Given the description of an element on the screen output the (x, y) to click on. 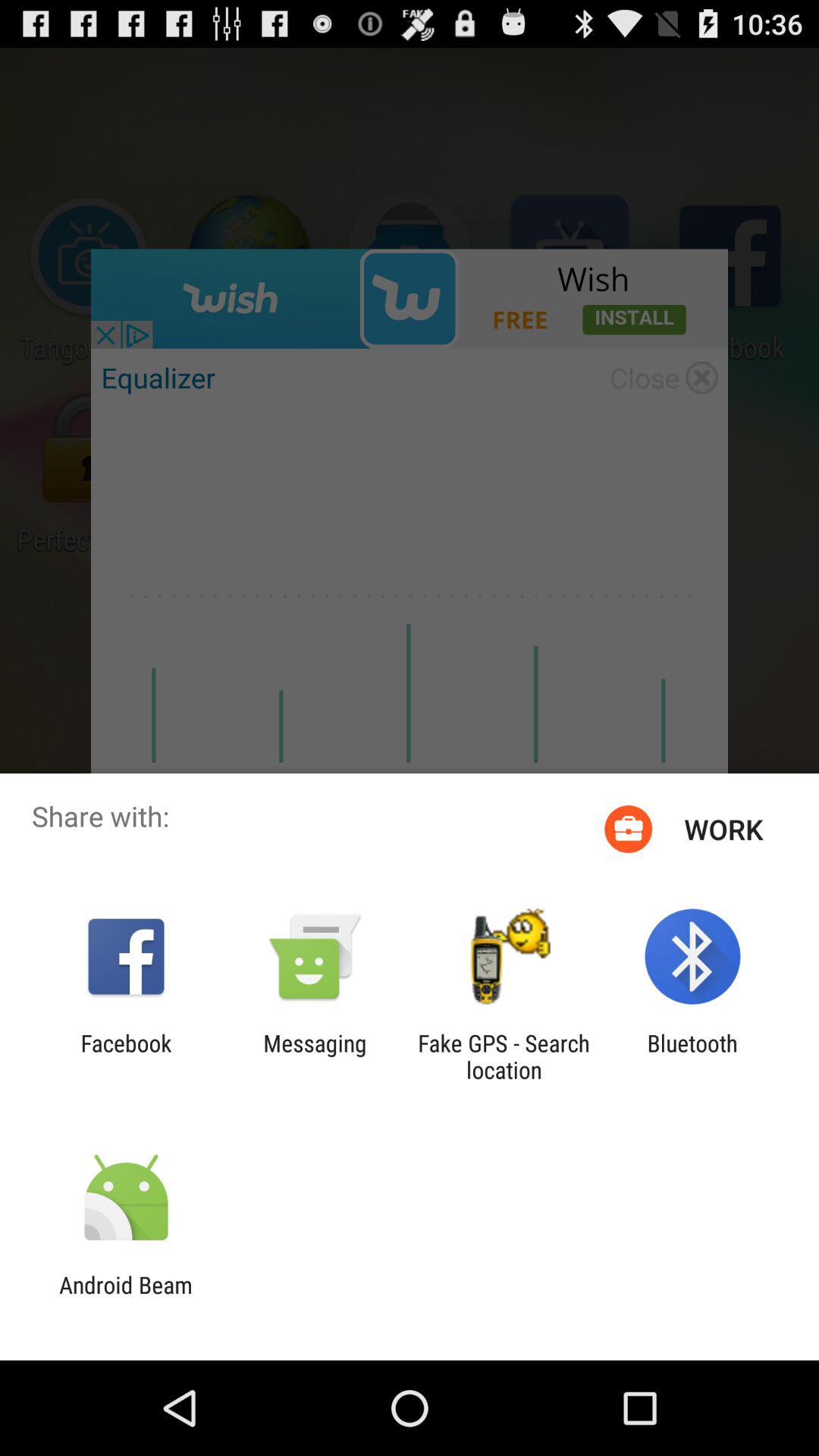
press the item to the left of messaging app (125, 1056)
